Given the description of an element on the screen output the (x, y) to click on. 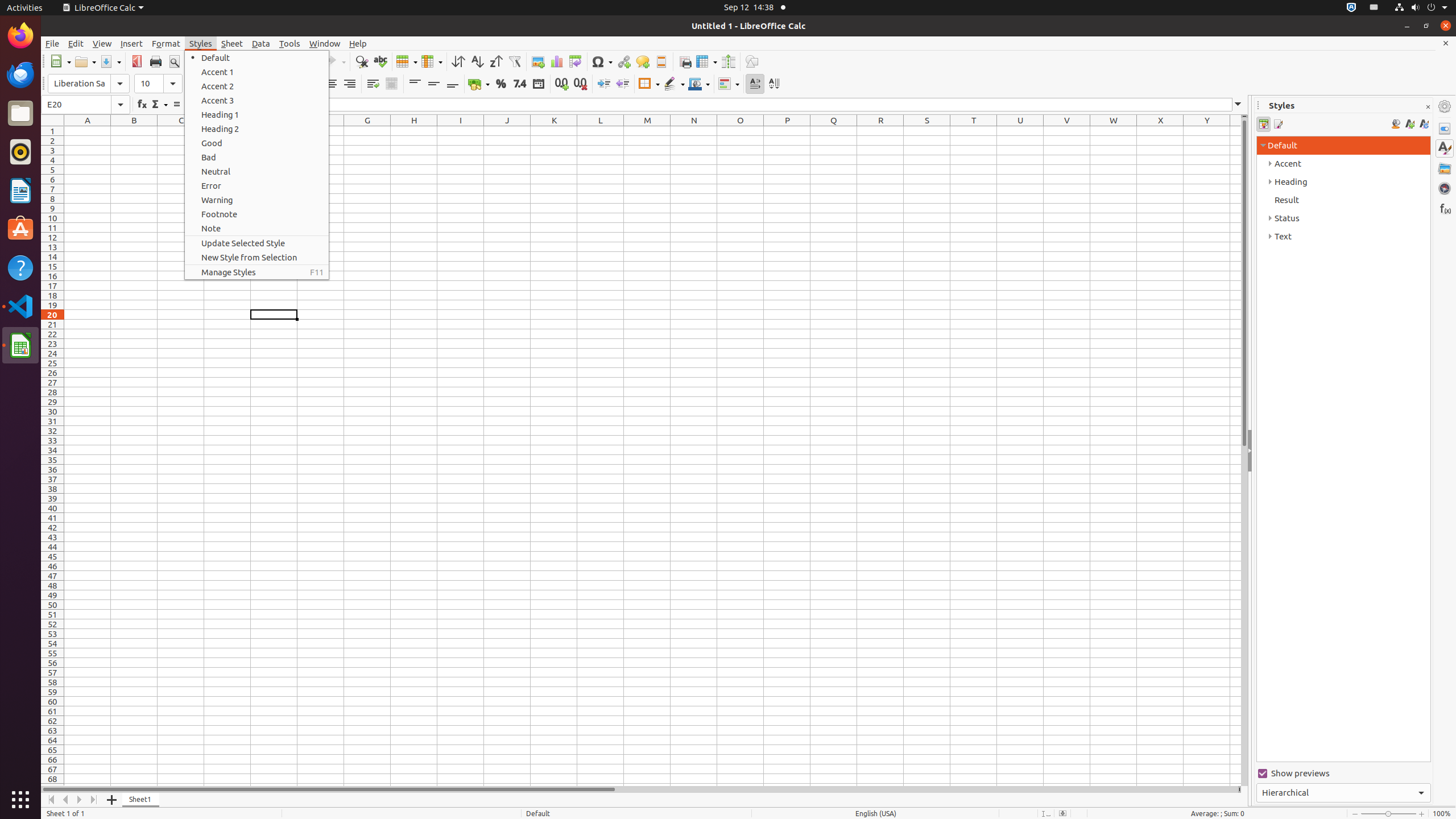
Z1 Element type: table-cell (1235, 130)
File Element type: menu (51, 43)
View Element type: menu (102, 43)
Visual Studio Code Element type: push-button (20, 306)
Default Element type: radio-menu-item (256, 57)
